Given the description of an element on the screen output the (x, y) to click on. 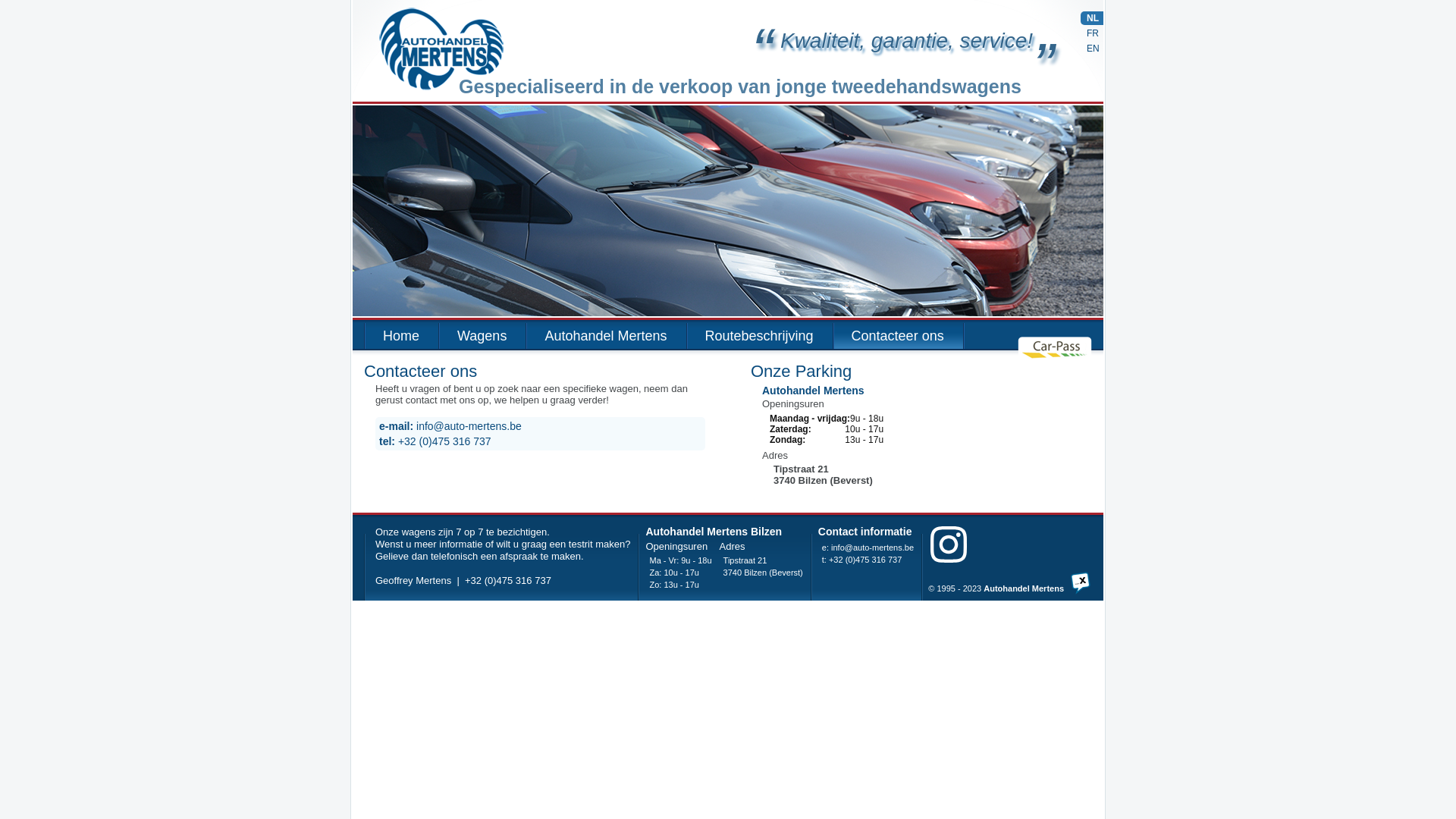
info@auto-mertens.be Element type: text (468, 426)
info@auto-mertens.be Element type: text (872, 547)
Autohandel Mertens Element type: text (1023, 588)
FR Element type: text (1091, 33)
Instagram Element type: hover (939, 545)
WEBTRIX Element type: text (1076, 586)
Home Element type: text (401, 335)
Contacteer ons Element type: text (898, 335)
Instagram Element type: hover (948, 544)
EN Element type: text (1091, 48)
Autohandel Mertens Element type: text (606, 335)
Autohandel Mertens Element type: text (496, 48)
Wagens Element type: text (482, 335)
Routebeschrijving Element type: text (759, 335)
NL Element type: text (1091, 18)
